Given the description of an element on the screen output the (x, y) to click on. 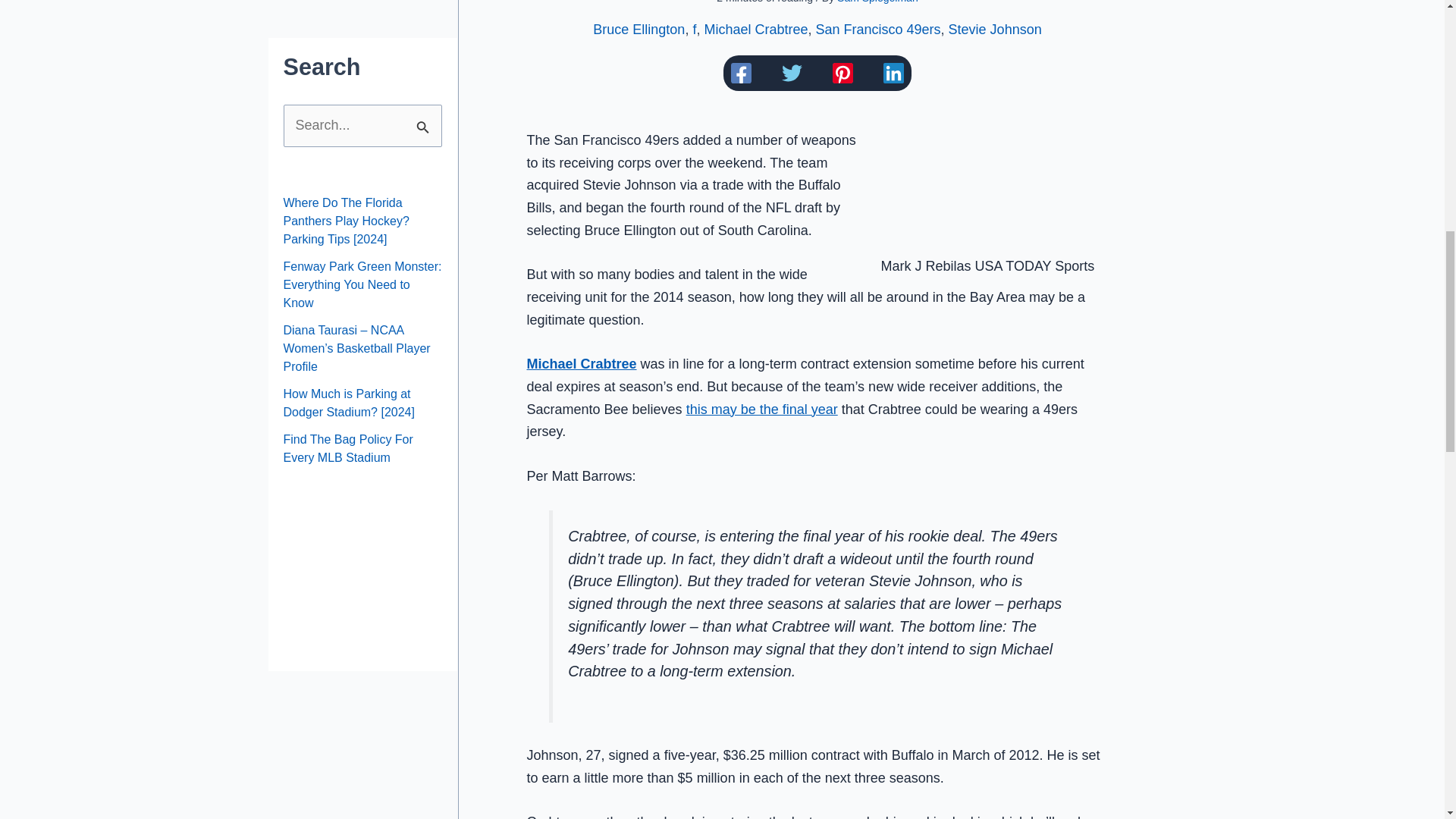
View all posts by Sam Spiegelman (877, 2)
